Given the description of an element on the screen output the (x, y) to click on. 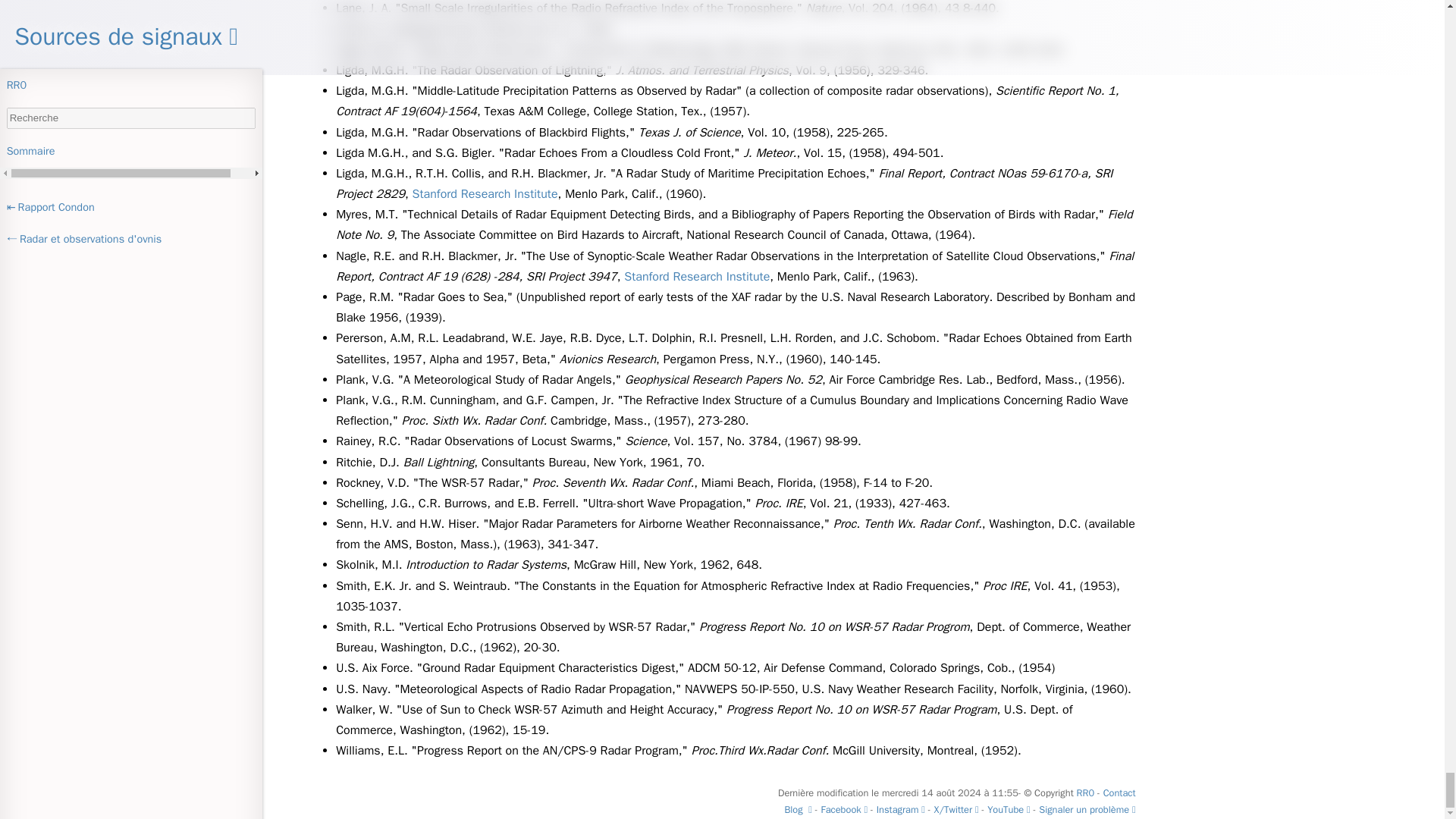
www.instagram.com (900, 809)
github.com (1086, 809)
rr0.medium.com (797, 809)
twitter.com (956, 809)
www.facebook.com (843, 809)
www.youtube.com (1008, 809)
